Given the description of an element on the screen output the (x, y) to click on. 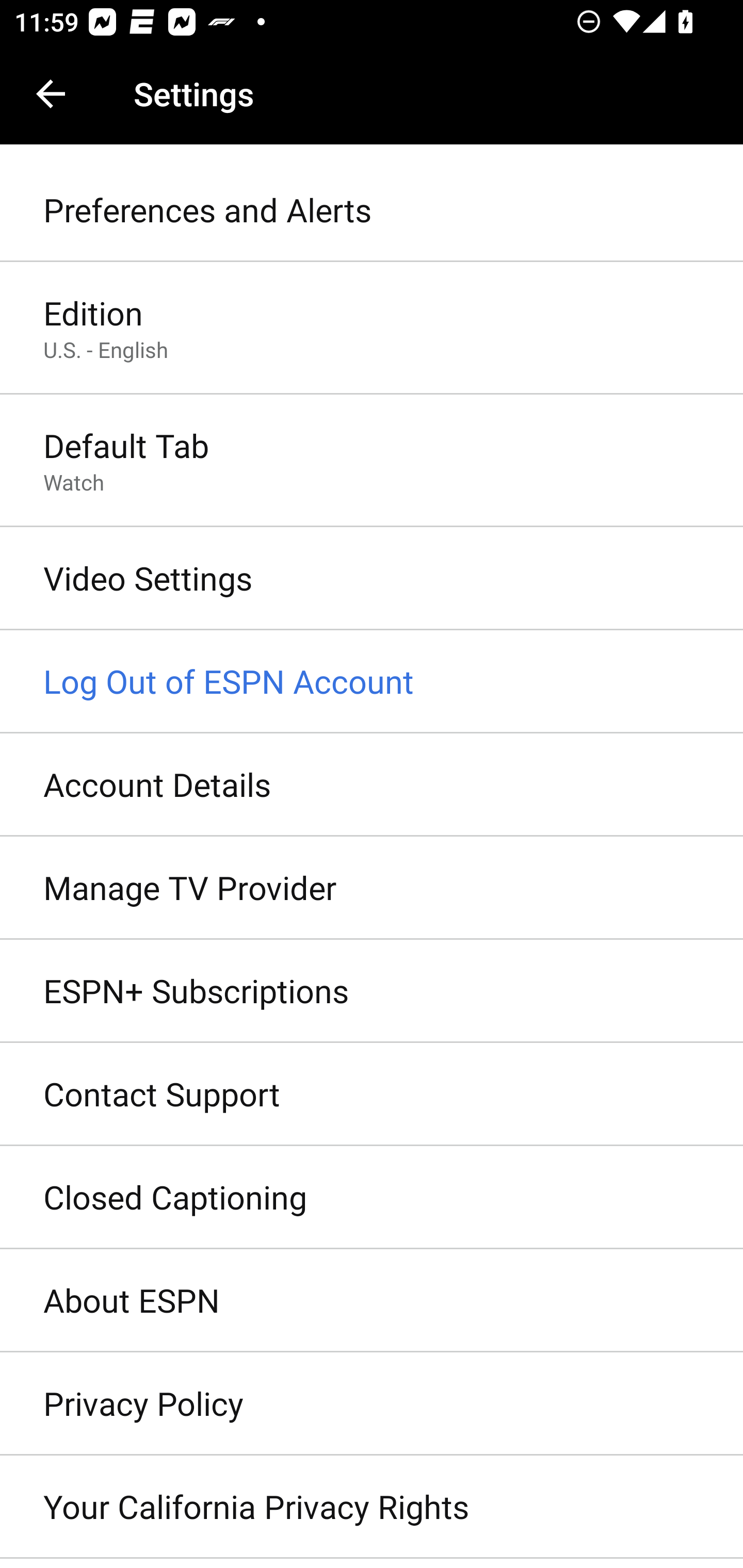
Navigate up (50, 93)
Preferences and Alerts (371, 209)
Edition U.S. - English (371, 328)
Default Tab Watch (371, 461)
Video Settings (371, 578)
Log Out of ESPN Account (371, 681)
Account Details (371, 785)
Manage TV Provider (371, 888)
ESPN+ Subscriptions (371, 990)
Contact Support (371, 1094)
Closed Captioning (371, 1197)
About ESPN (371, 1301)
Privacy Policy (371, 1403)
Your California Privacy Rights (371, 1506)
